Given the description of an element on the screen output the (x, y) to click on. 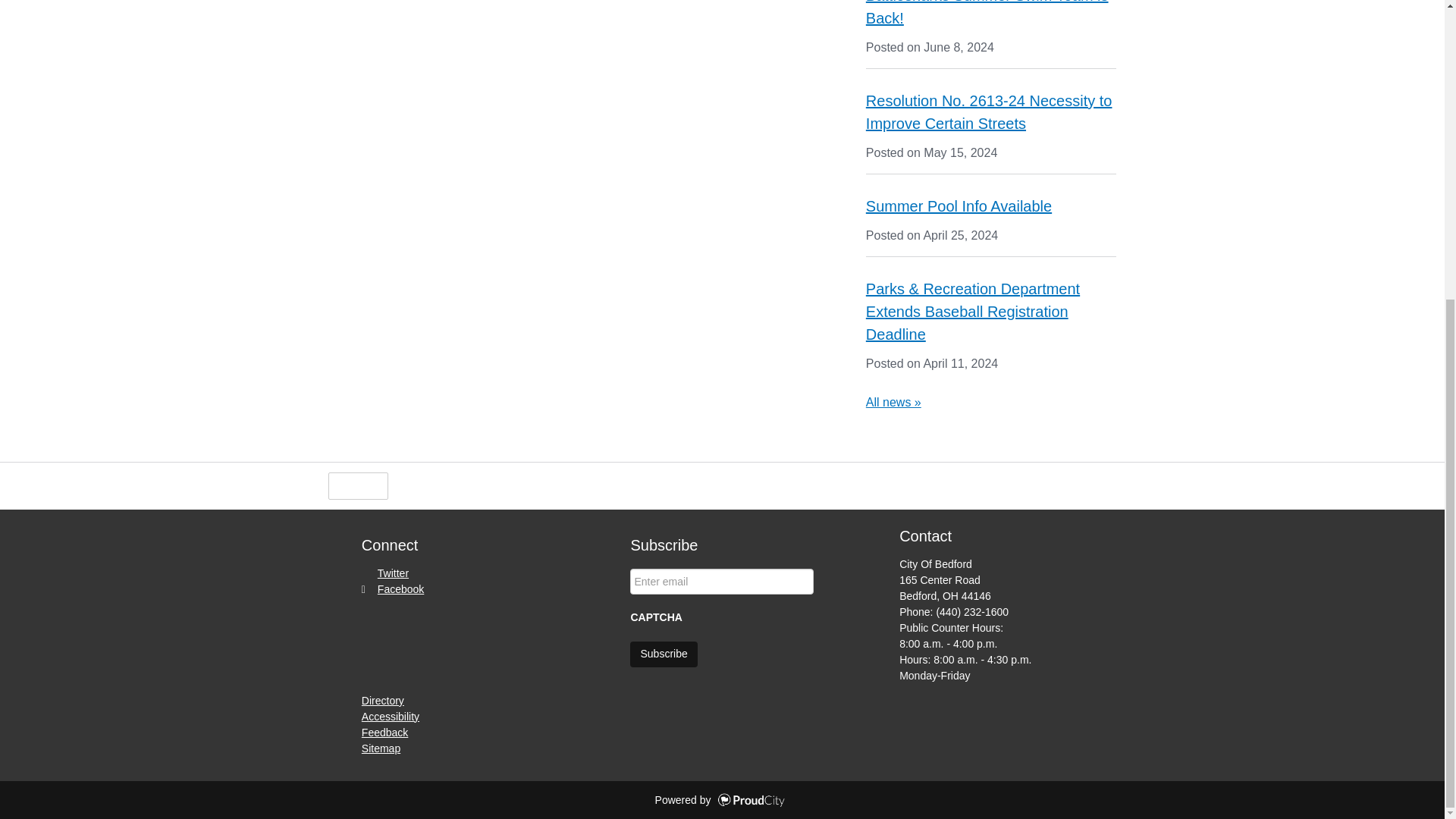
Subscribe (663, 654)
Size (468, 485)
Twitter (385, 573)
Facebook (392, 589)
This page makes me proud (357, 485)
Subscribe (663, 654)
Battlesharks Summer Swim Team is Back! (987, 13)
Helpful (357, 485)
Translate (531, 485)
Translate (531, 485)
Summer Pool Info Available (958, 206)
Share (416, 485)
Resolution No. 2613-24 Necessity to Improve Certain Streets (989, 111)
